Given the description of an element on the screen output the (x, y) to click on. 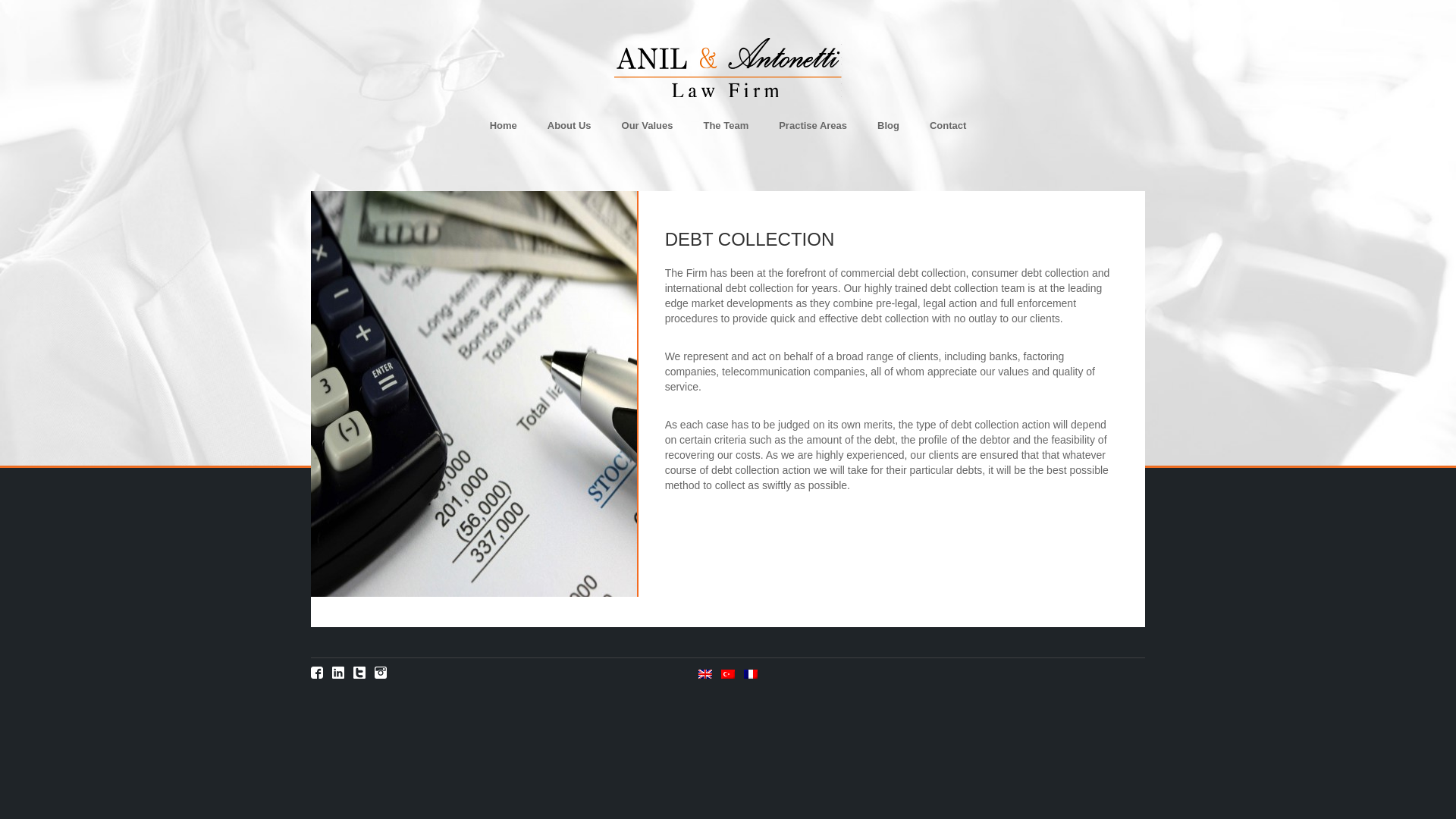
Contact (948, 132)
Home (502, 132)
Our Values (646, 132)
About Us (569, 132)
The Team (725, 132)
Practise Areas (812, 132)
